Given the description of an element on the screen output the (x, y) to click on. 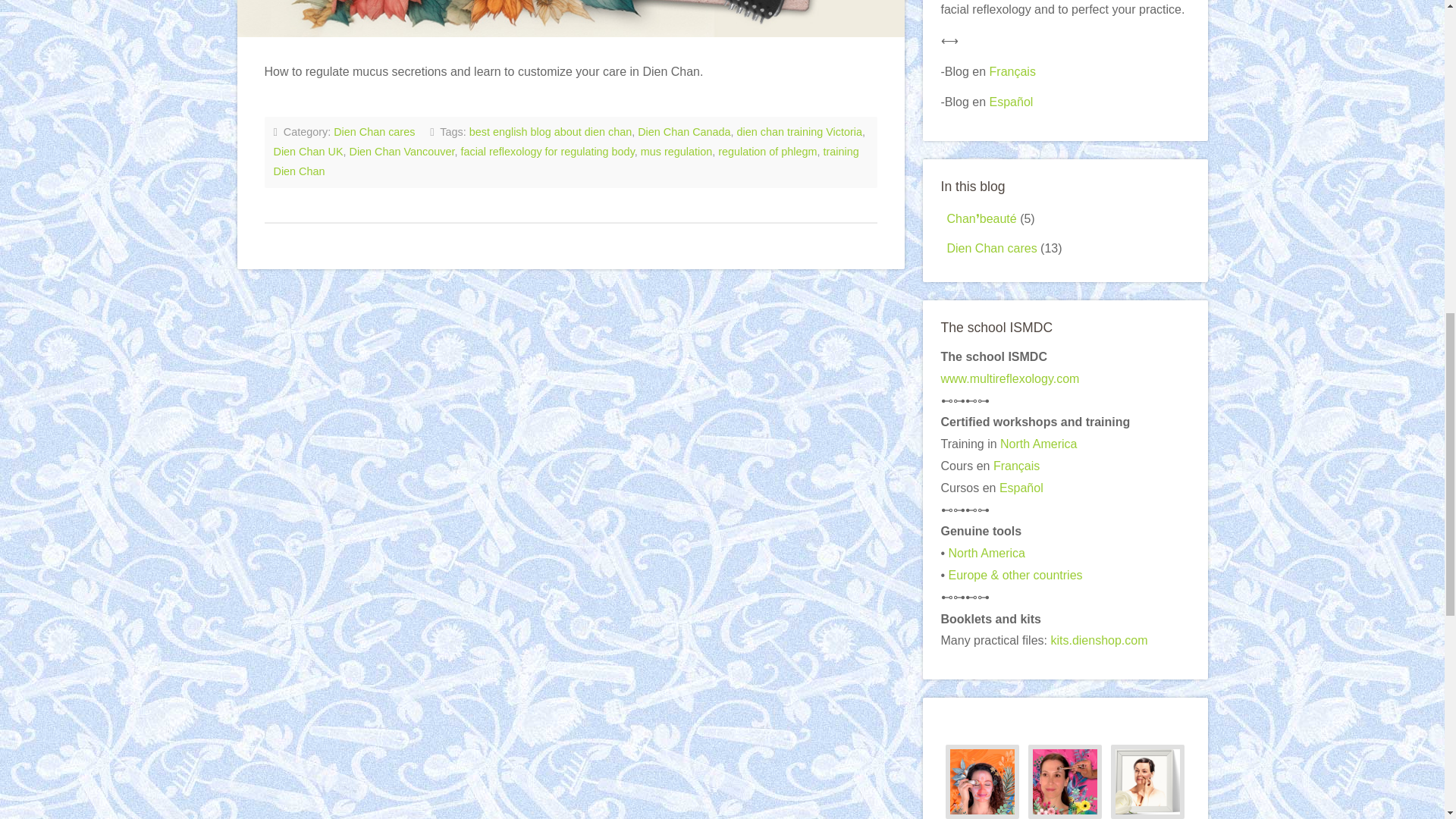
dien chan training Victoria (798, 132)
Dien Chan cares (373, 132)
North America (987, 553)
Dien Chan cares (991, 247)
mus regulation (675, 151)
training Dien Chan (566, 161)
best english blog about dien chan (549, 132)
North America (1038, 443)
regulation of phlegm (766, 151)
Permalink to Regulating mucus production (569, 18)
Dien Chan Vancouver (401, 151)
www.multireflexology.com (1009, 378)
Dien Chan Canada (683, 132)
Dien Chan UK (307, 151)
kits.dienshop.com (1098, 640)
